Given the description of an element on the screen output the (x, y) to click on. 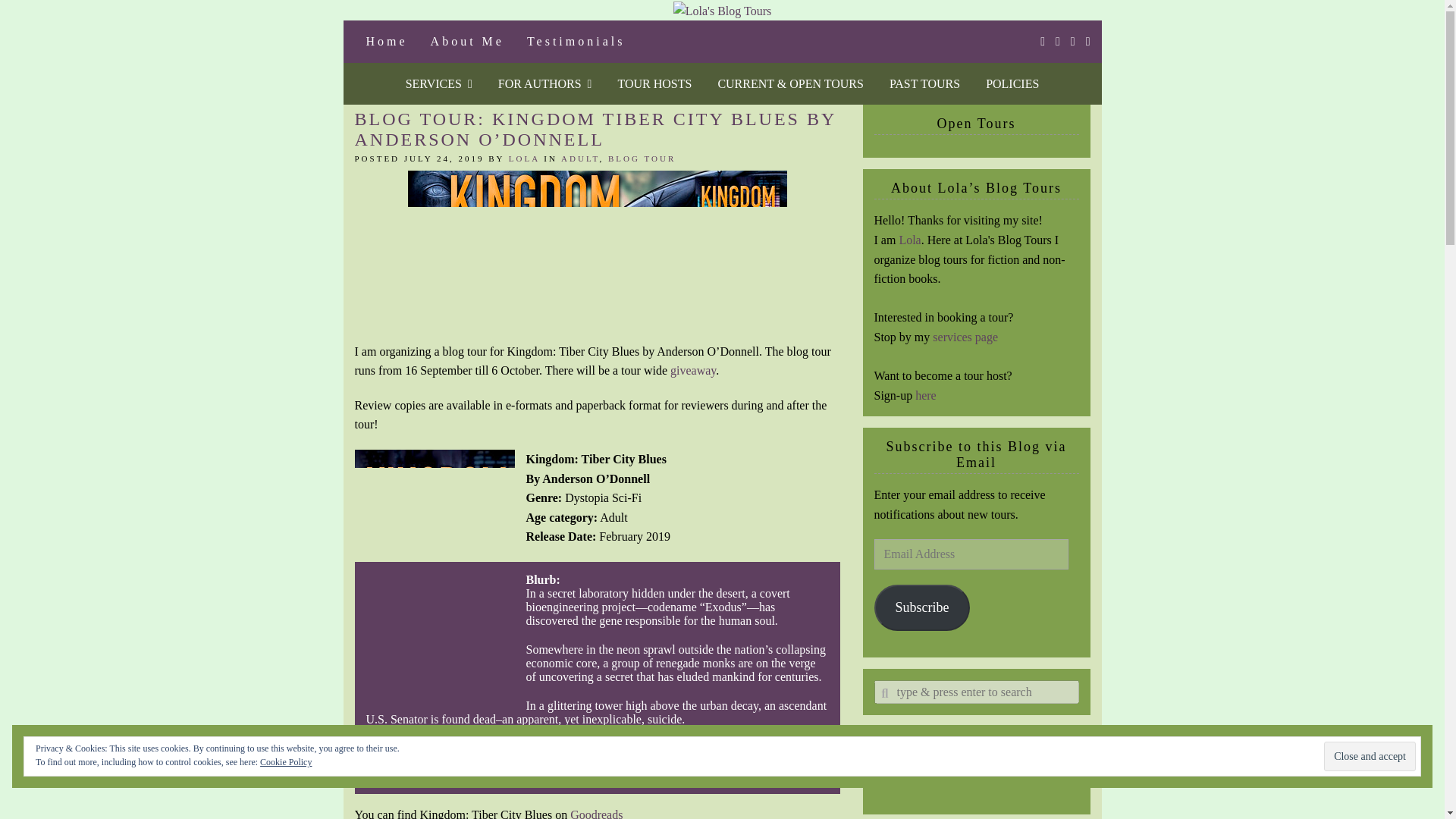
Close and accept (1369, 756)
SERVICES   (438, 84)
Close and accept (1369, 756)
BLOG TOUR (641, 157)
Cookie Policy (285, 761)
PAST TOURS (924, 84)
FOR AUTHORS   (545, 84)
POLICIES (1011, 84)
Home (387, 41)
LOLA (524, 157)
TOUR HOSTS (654, 84)
About Me (467, 41)
giveaway (692, 369)
View all posts in Blog Tour (641, 157)
View all posts in Adult (579, 157)
